Given the description of an element on the screen output the (x, y) to click on. 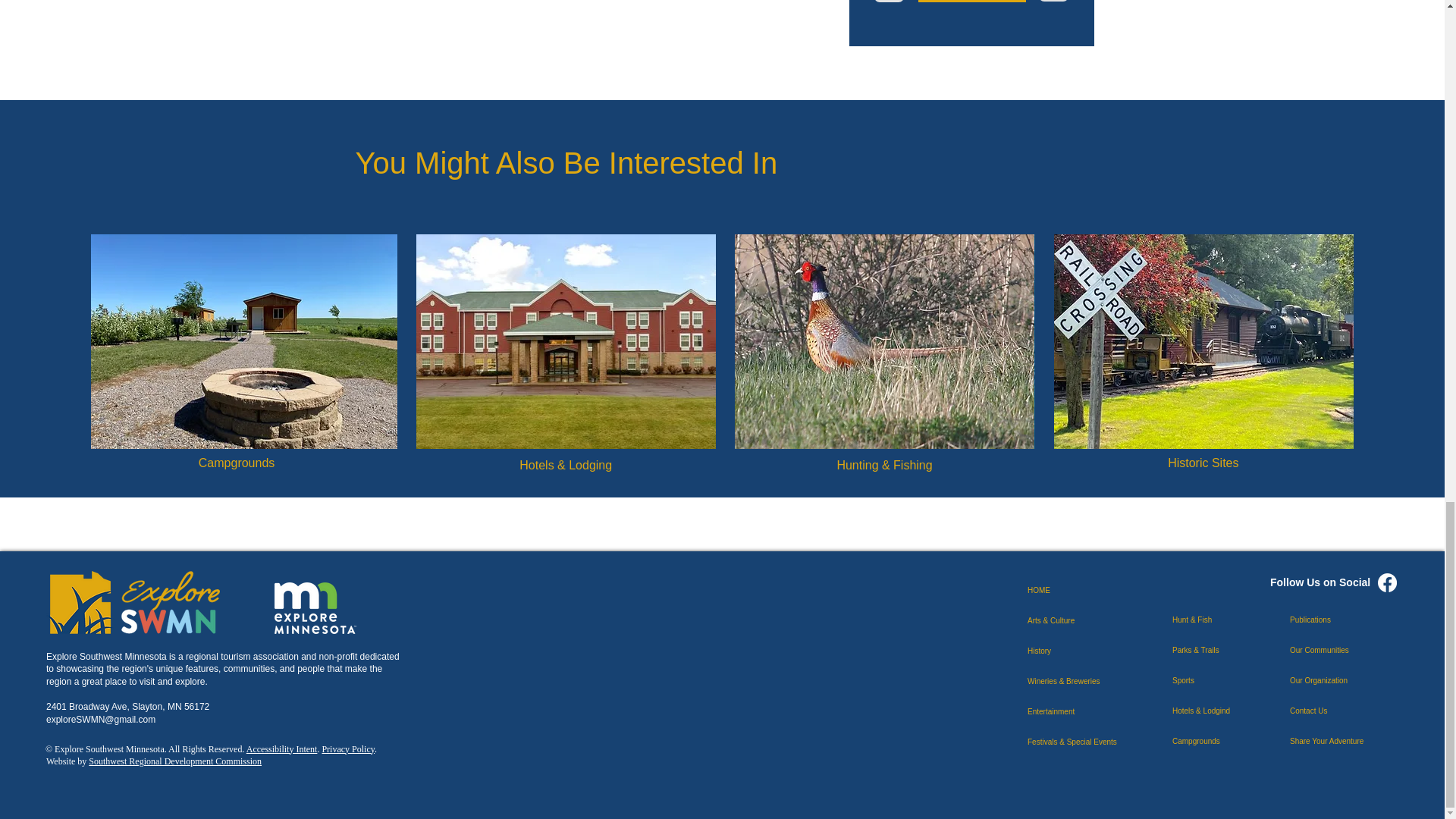
Back to List (971, 1)
HOME (1080, 590)
Privacy Policy (347, 748)
Accessibility Intent (281, 748)
Historic Sites (1203, 463)
Entertainment (1080, 711)
Southwest Regional Development Commission (175, 760)
Campgrounds (236, 463)
History (1080, 651)
Follow Us on Social (1319, 582)
